Given the description of an element on the screen output the (x, y) to click on. 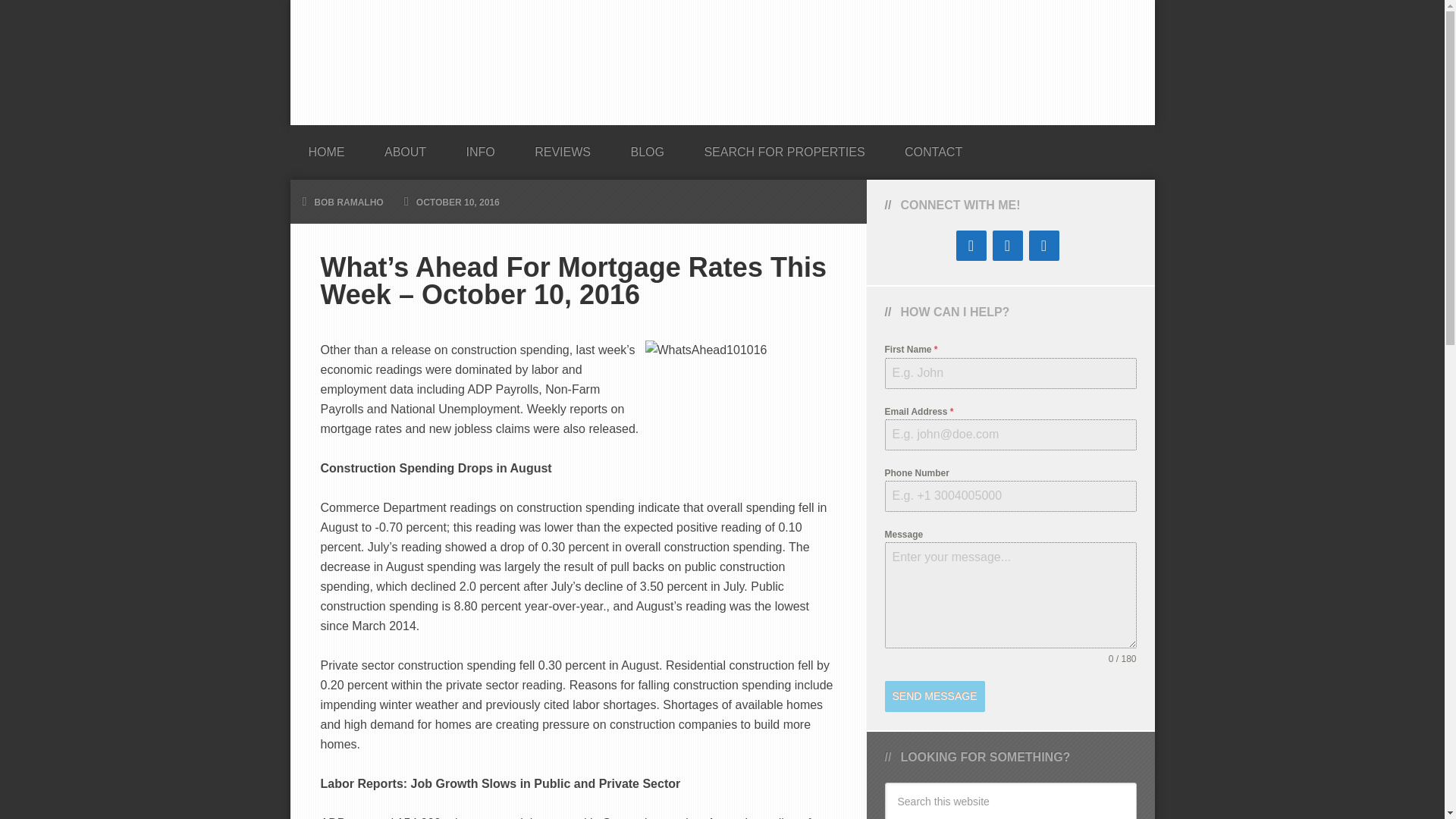
BOB RAMALHO (348, 202)
CONTACT (932, 147)
BOB RAMALHO (721, 62)
SEND MESSAGE (933, 695)
SEARCH FOR PROPERTIES (783, 147)
ABOUT (405, 147)
REVIEWS (562, 147)
HOME (325, 147)
BLOG (646, 147)
INFO (480, 147)
